Given the description of an element on the screen output the (x, y) to click on. 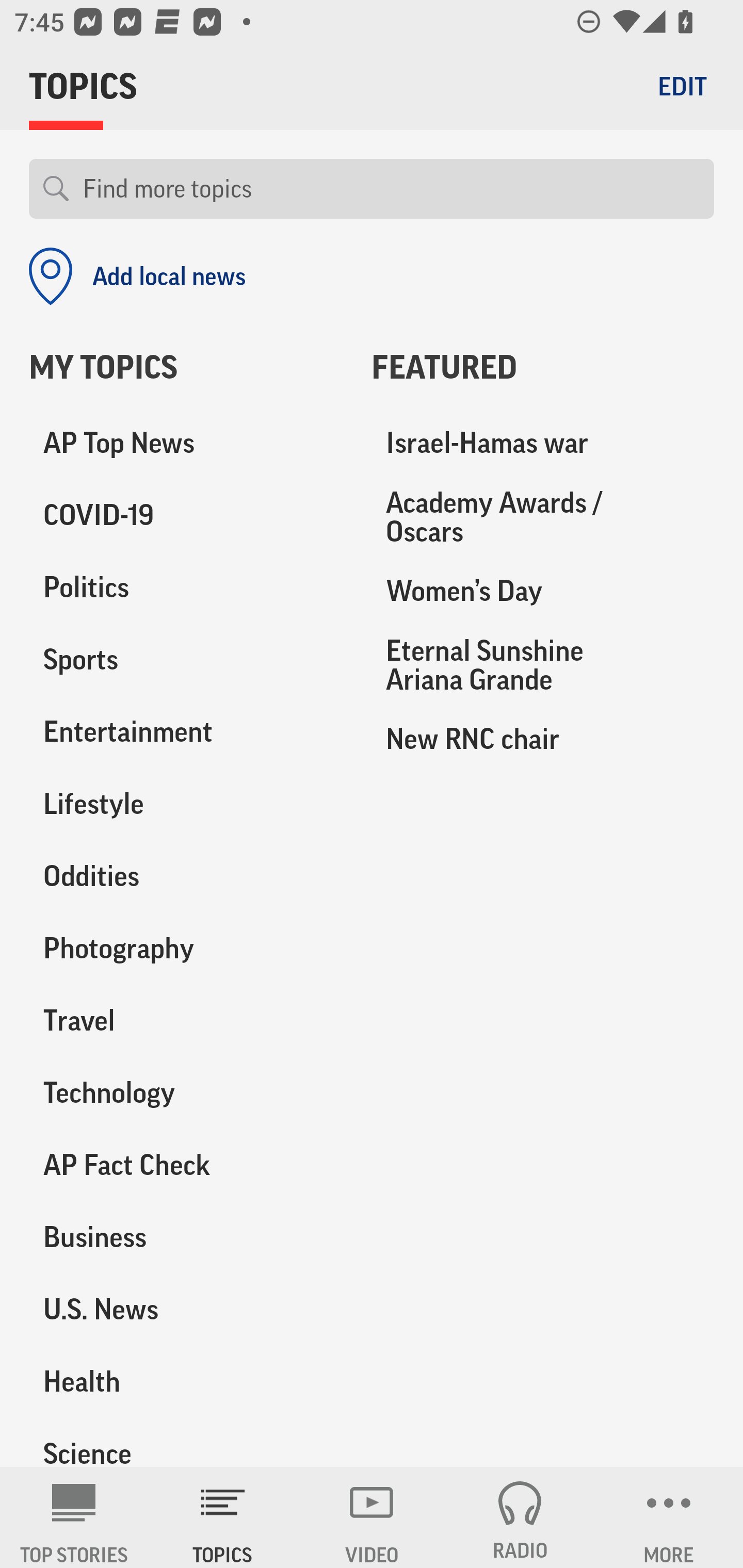
EDIT (682, 86)
Find more topics (391, 188)
Add local news (137, 276)
AP Top News (185, 443)
Israel-Hamas war (542, 443)
COVID-19 (185, 515)
Academy Awards / Oscars (542, 517)
Politics (185, 587)
Women’s Day (542, 591)
Sports (185, 660)
Eternal Sunshine Ariana Grande (542, 664)
Entertainment (185, 732)
New RNC chair (542, 738)
Lifestyle (185, 804)
Oddities (185, 876)
Photography (185, 948)
Travel (185, 1020)
Technology (185, 1092)
AP Fact Check (185, 1164)
Business (185, 1237)
U.S. News (185, 1309)
Health (185, 1381)
Science (185, 1442)
AP News TOP STORIES (74, 1517)
TOPICS (222, 1517)
VIDEO (371, 1517)
RADIO (519, 1517)
MORE (668, 1517)
